Given the description of an element on the screen output the (x, y) to click on. 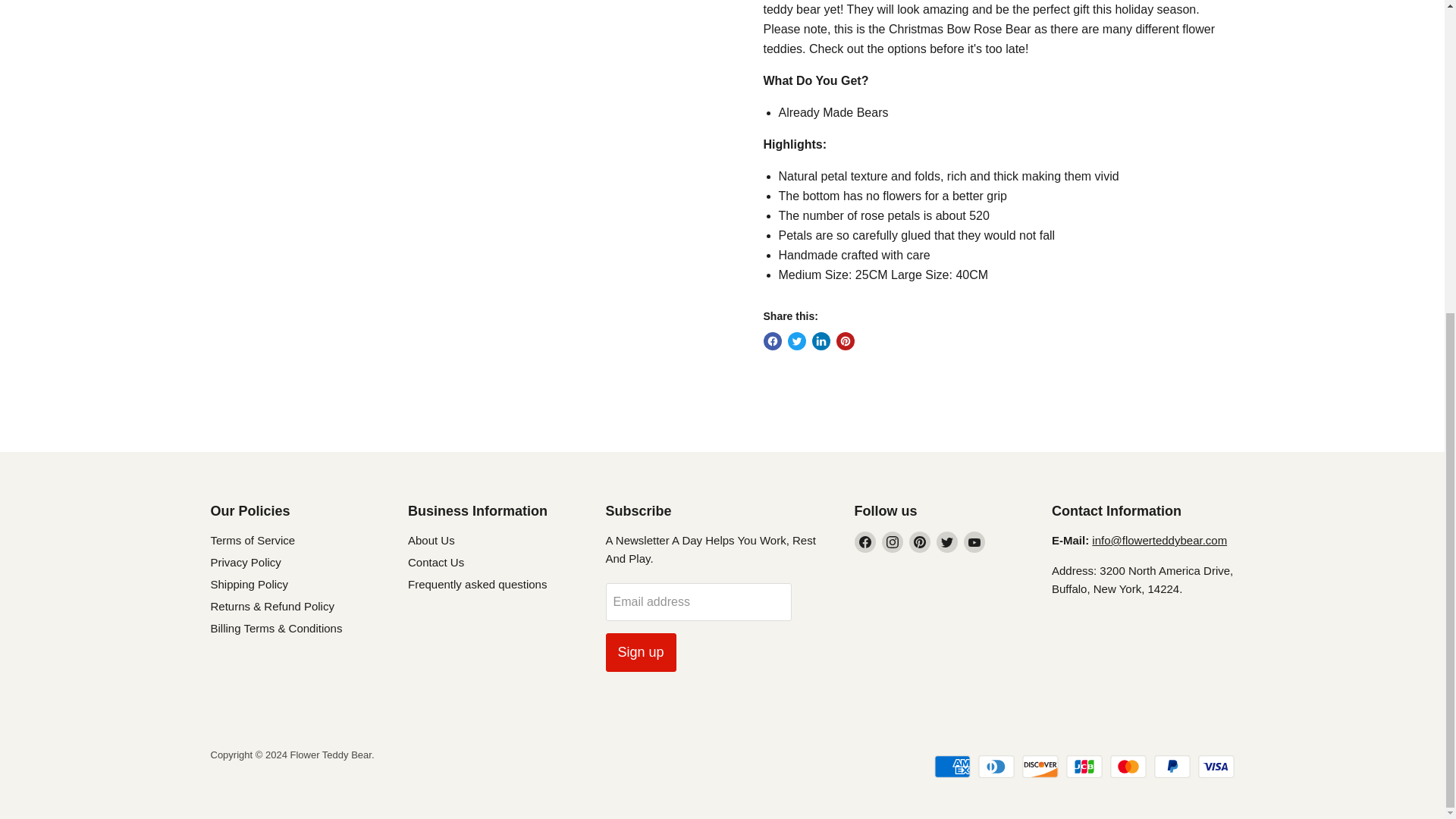
Twitter (946, 541)
Discover (1040, 766)
Facebook (864, 541)
YouTube (973, 541)
Pinterest (919, 541)
Diners Club (996, 766)
American Express (952, 766)
Instagram (891, 541)
